Given the description of an element on the screen output the (x, y) to click on. 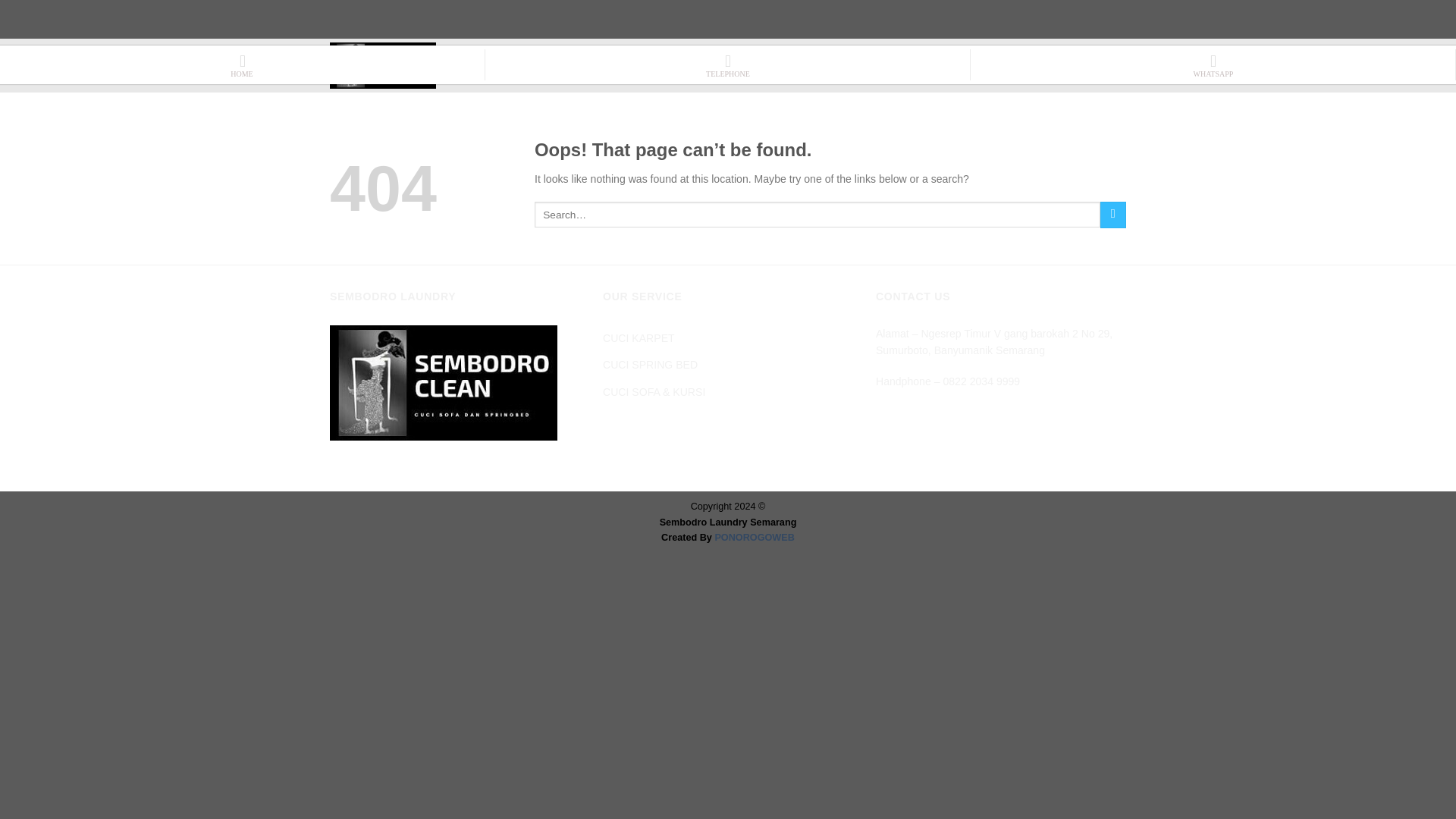
LAYANAN KAMI (713, 64)
GALERI KAMI (990, 64)
CUCI SPRING BED (649, 365)
HUBUNGI KAMI (904, 64)
PONOROGOWEB (753, 537)
CUCI KARPET (638, 338)
DAFTAR HARGA (810, 64)
TENTANG KAMI (1078, 64)
